Given the description of an element on the screen output the (x, y) to click on. 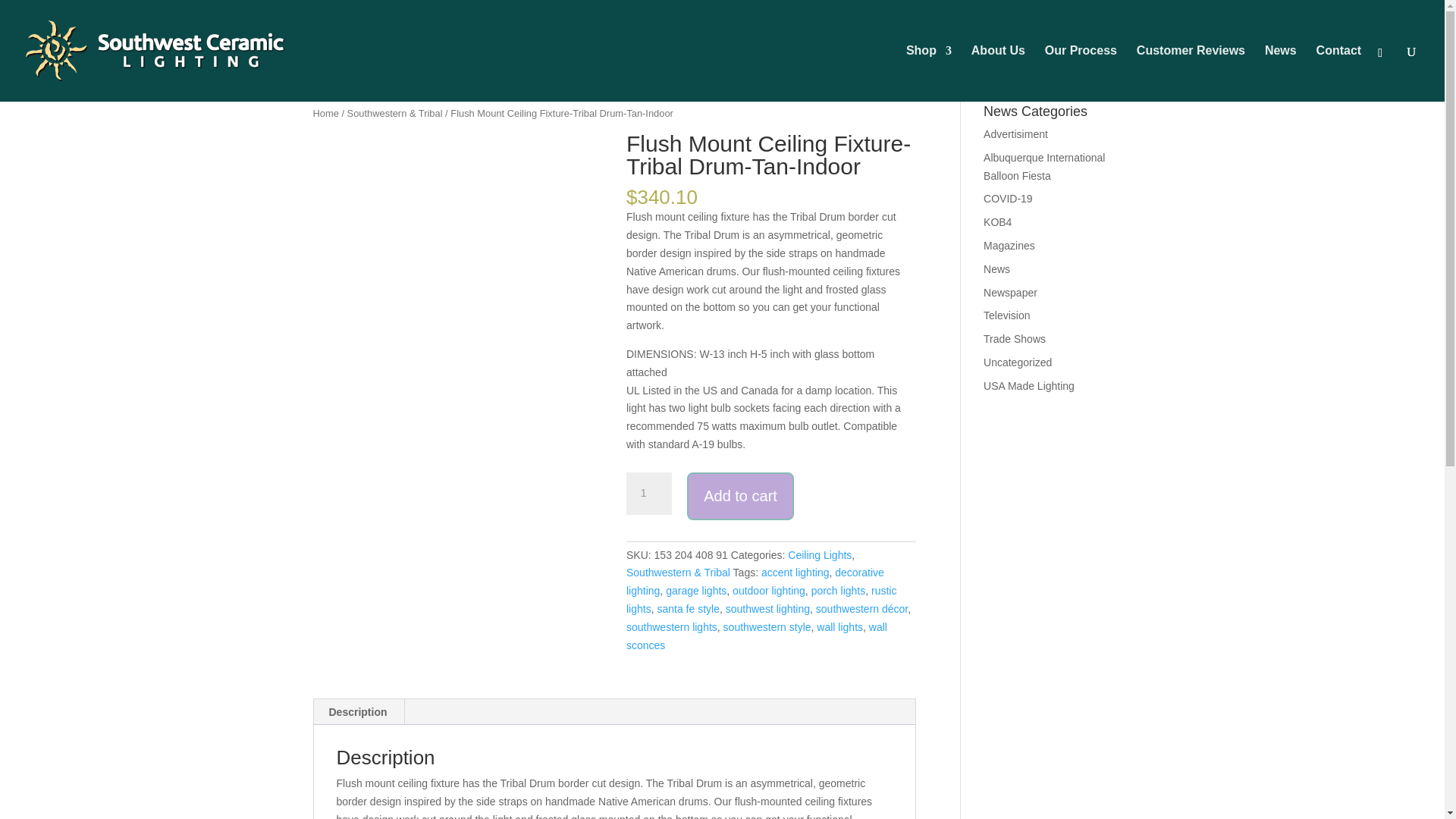
decorative lighting (754, 581)
1 (648, 493)
garage lights (695, 590)
porch lights (838, 590)
rustic lights (761, 599)
southwest lighting (767, 608)
wall sconces (756, 635)
Home (325, 112)
Our Process (1080, 73)
Ceiling Lights (819, 554)
